Given the description of an element on the screen output the (x, y) to click on. 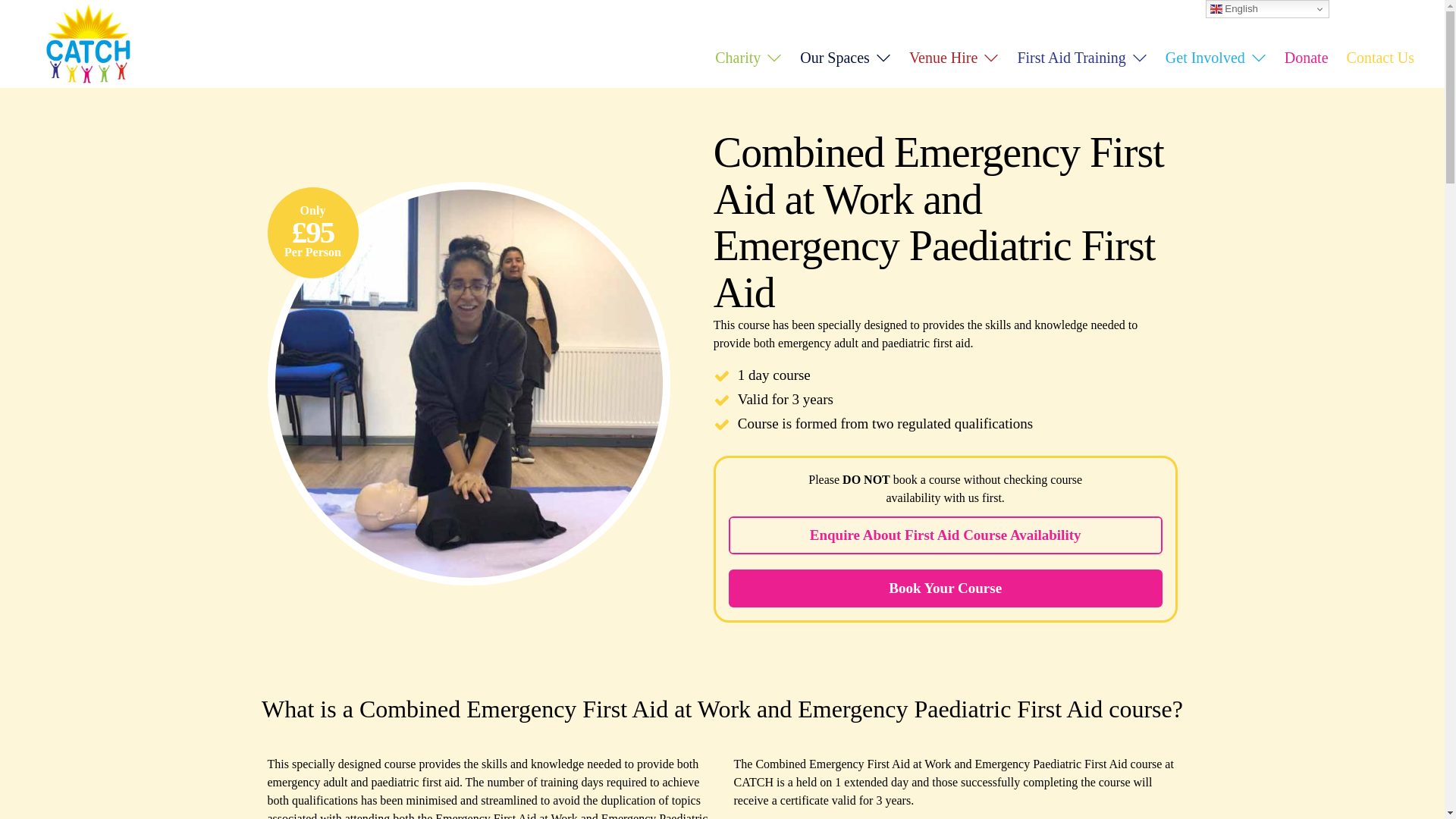
Venue Hire (953, 57)
Our Spaces (845, 57)
Catch-logo (88, 44)
First Aid Training (1081, 57)
Charity (747, 57)
